Given the description of an element on the screen output the (x, y) to click on. 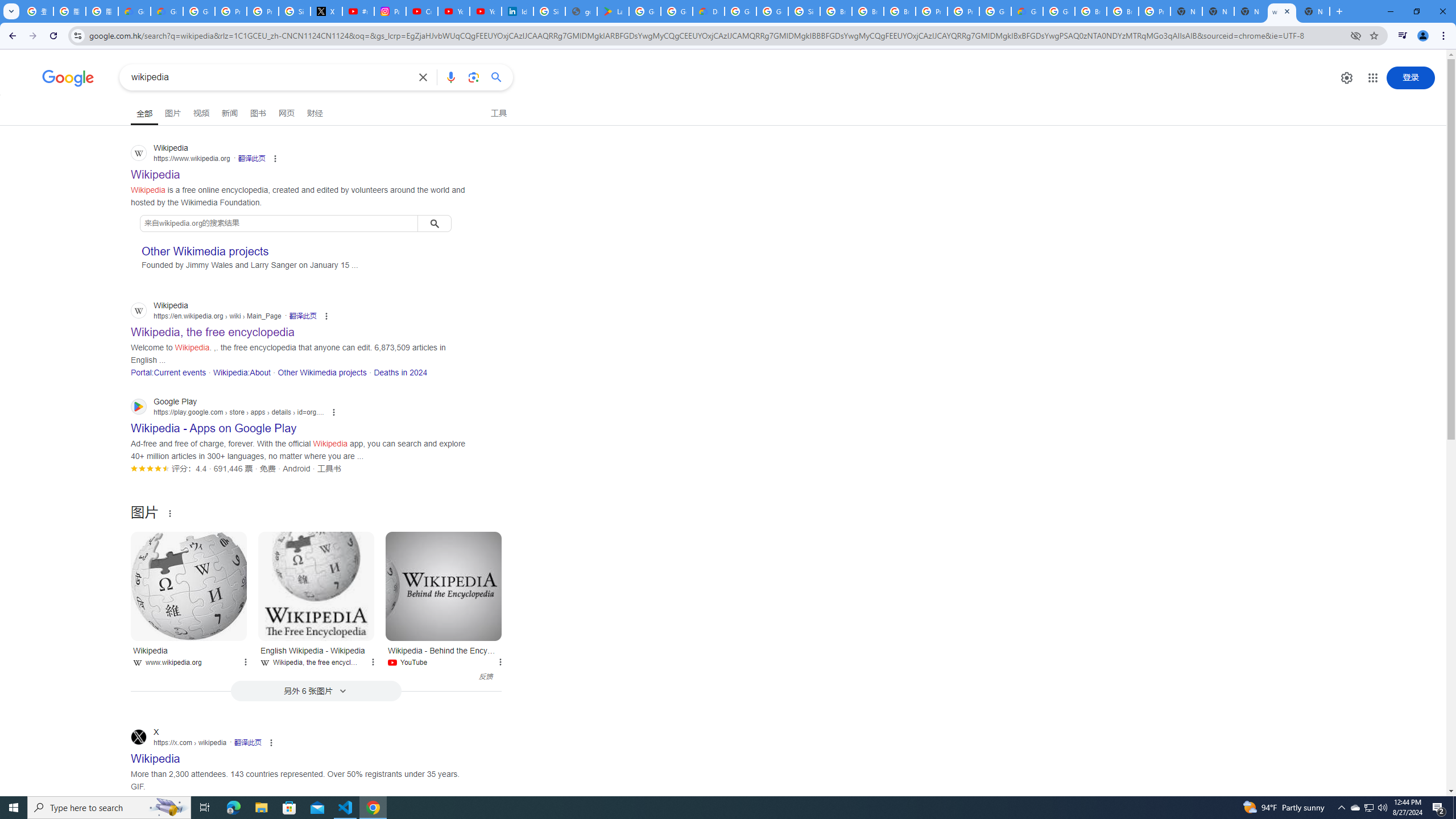
Google Workspace - Specific Terms (676, 11)
Sign in - Google Accounts (804, 11)
Browse Chrome as a guest - Computer - Google Chrome Help (1123, 11)
Deaths in 2024 (401, 371)
Wikipedia www.wikipedia.org (189, 654)
Browse Chrome as a guest - Computer - Google Chrome Help (1091, 11)
Google Cloud Platform (1059, 11)
Privacy Help Center - Policies Help (230, 11)
